Given the description of an element on the screen output the (x, y) to click on. 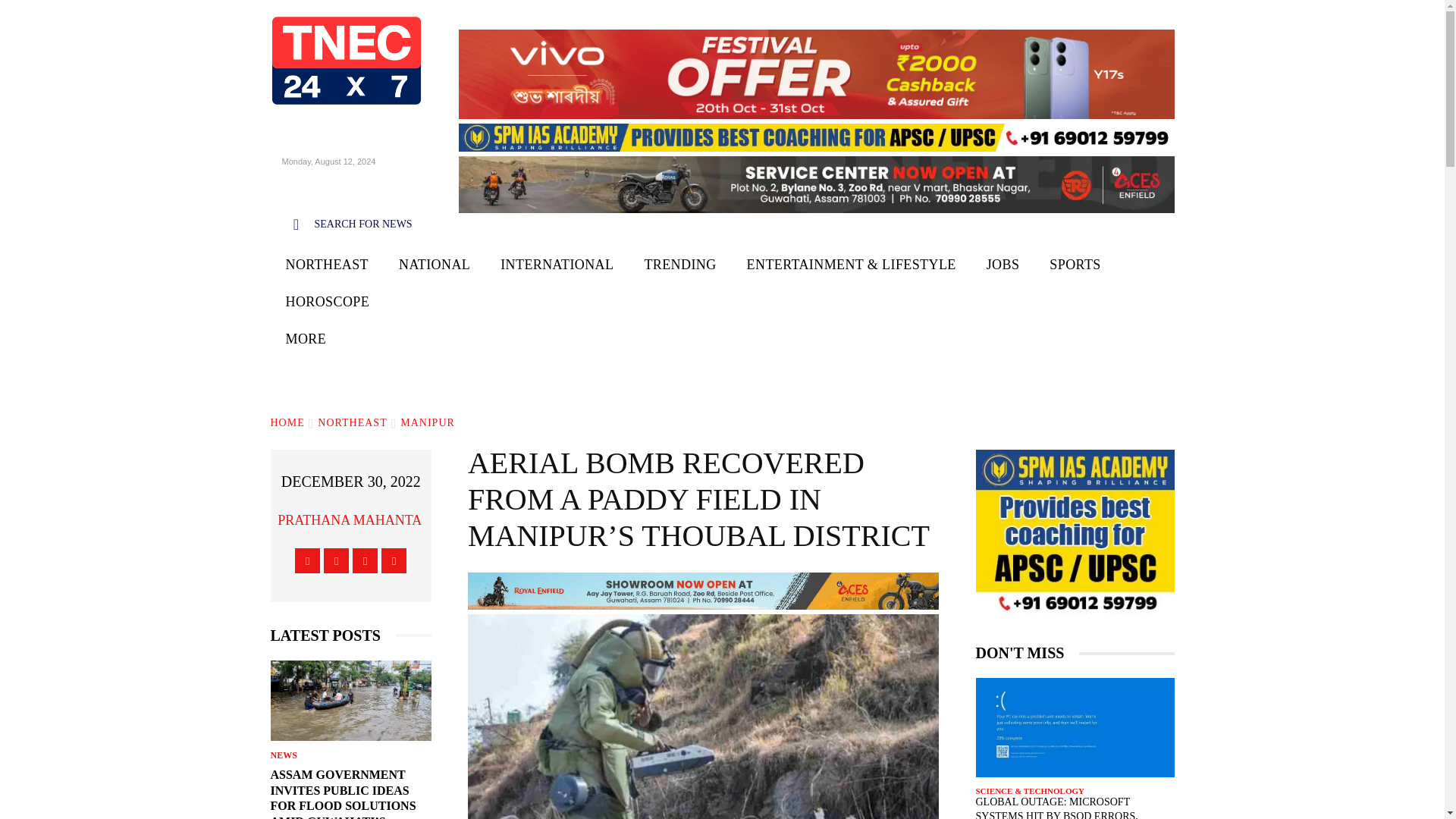
SEARCH FOR NEWS (345, 224)
View all posts in Manipur (427, 422)
View all posts in Northeast (352, 422)
NORTHEAST (326, 264)
